Given the description of an element on the screen output the (x, y) to click on. 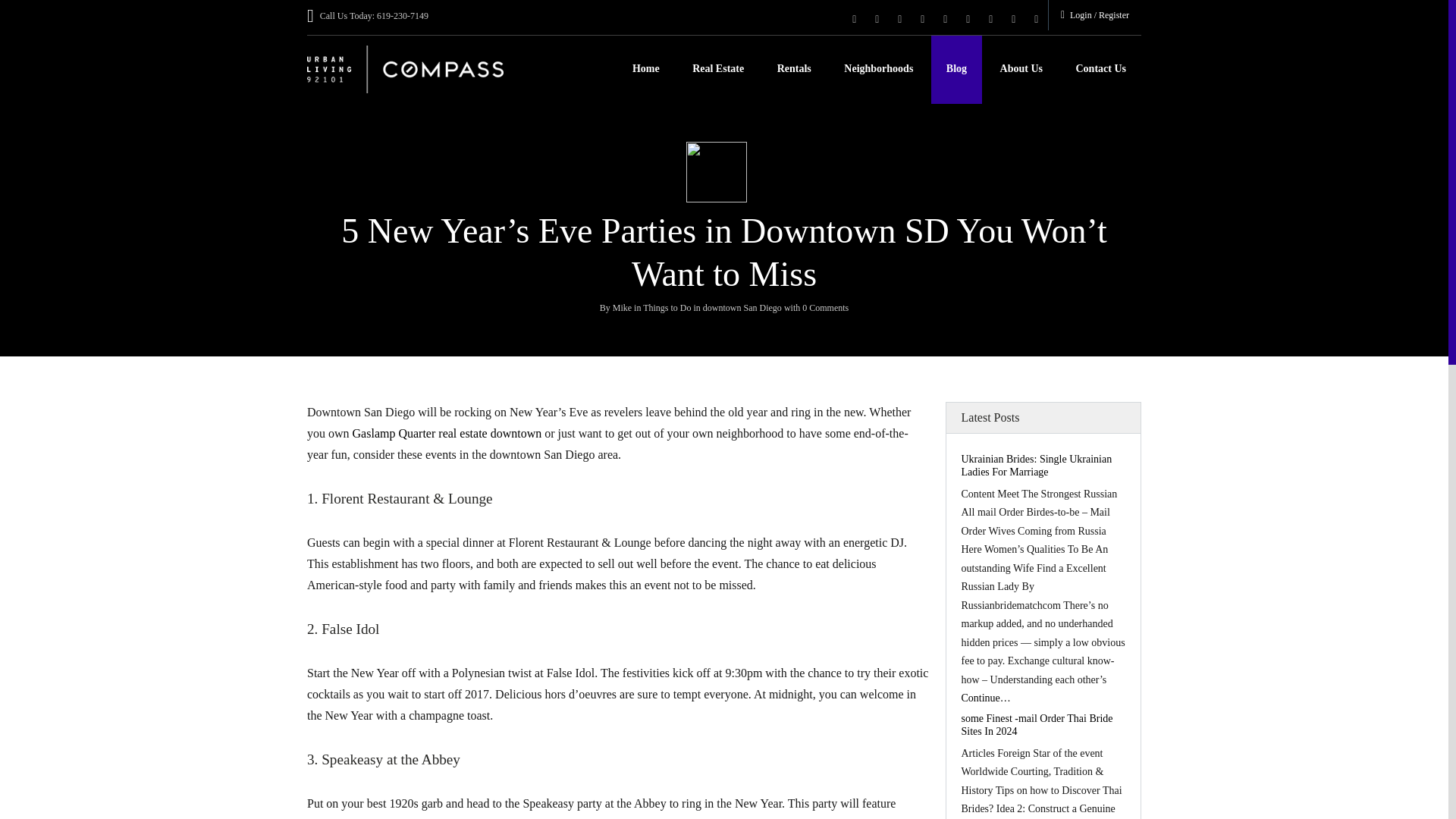
Neighborhoods (878, 70)
619-230-7149 (402, 15)
Rentals (794, 70)
Real Estate (717, 70)
